Given the description of an element on the screen output the (x, y) to click on. 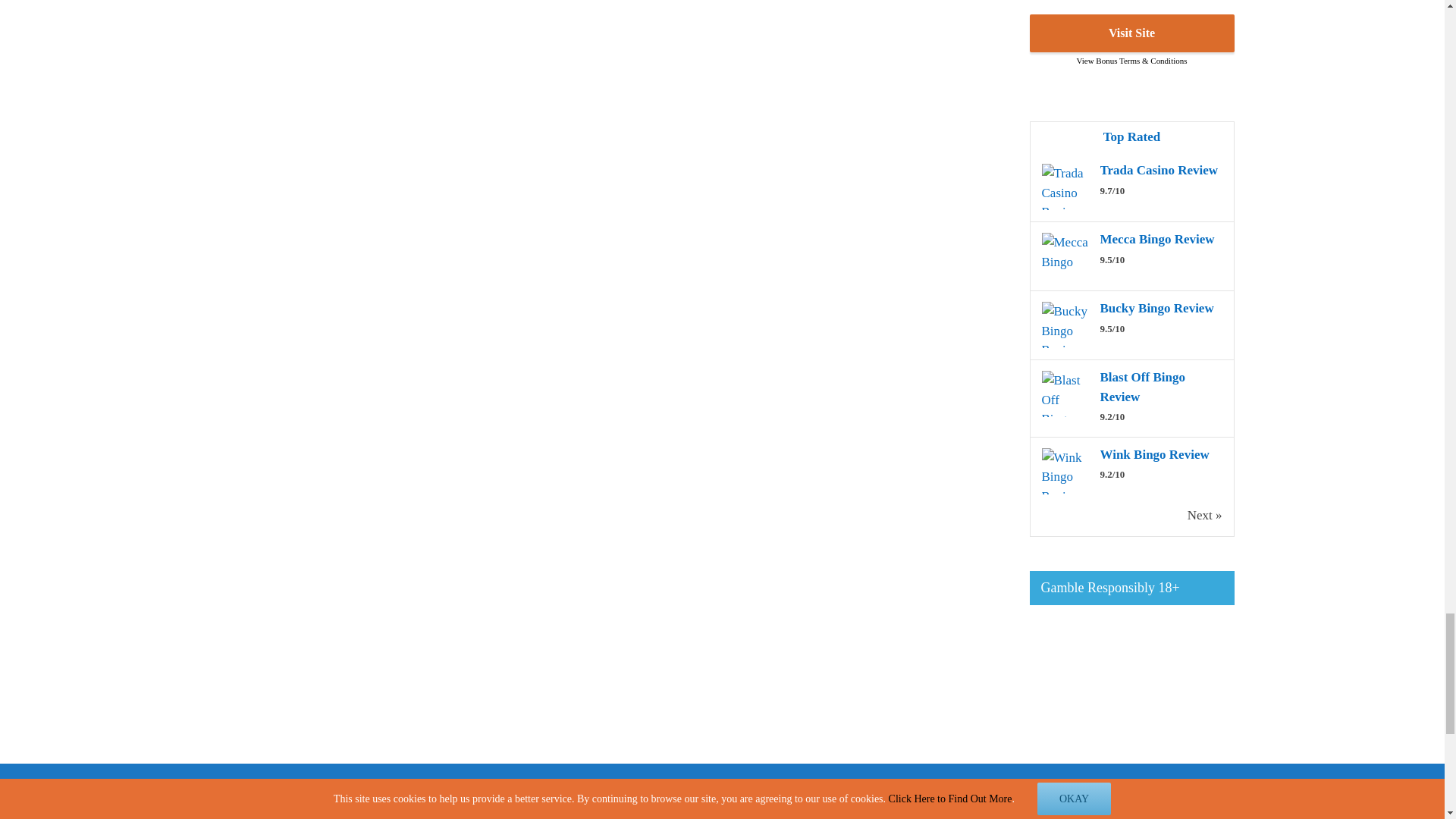
Trada Casino Review (1158, 169)
